Given the description of an element on the screen output the (x, y) to click on. 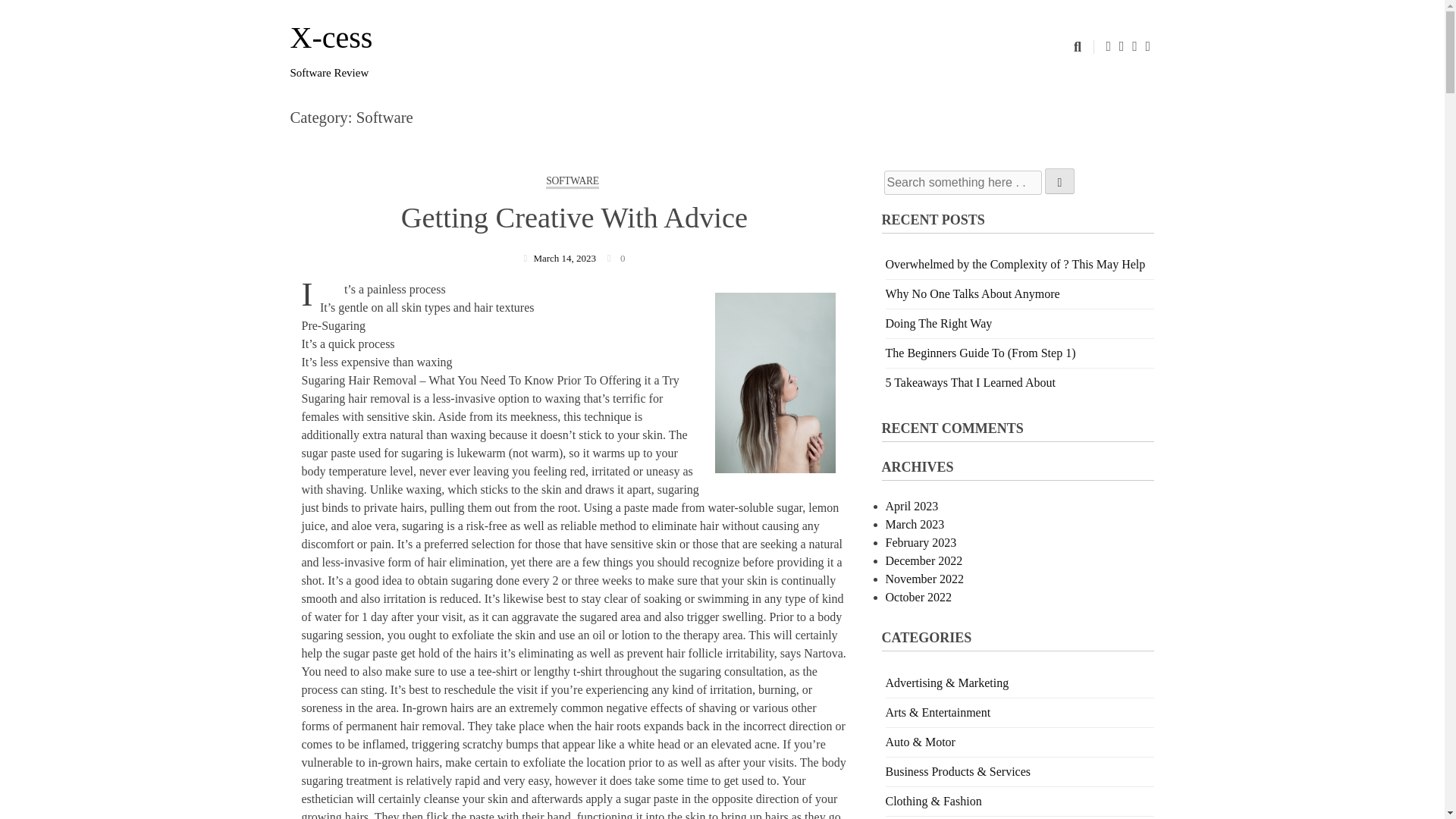
Why No One Talks About Anymore (972, 293)
February 2023 (920, 542)
December 2022 (923, 560)
X-cess (330, 37)
Doing The Right Way (938, 323)
5 Takeaways That I Learned About (970, 382)
October 2022 (918, 596)
Overwhelmed by the Complexity of ? This May Help (1015, 264)
November 2022 (924, 578)
March 2023 (914, 523)
April 2023 (912, 505)
